Given the description of an element on the screen output the (x, y) to click on. 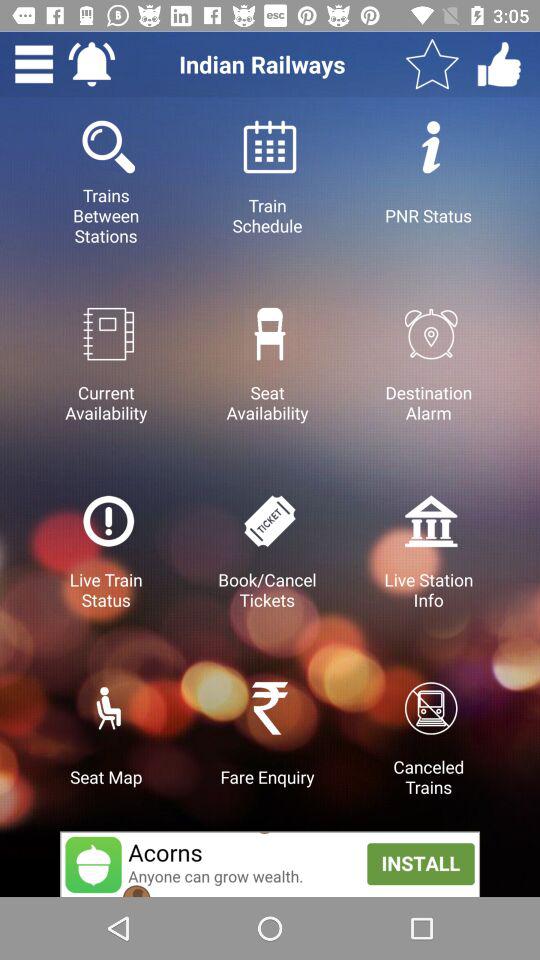
go to indian railway 's social media (499, 64)
